Given the description of an element on the screen output the (x, y) to click on. 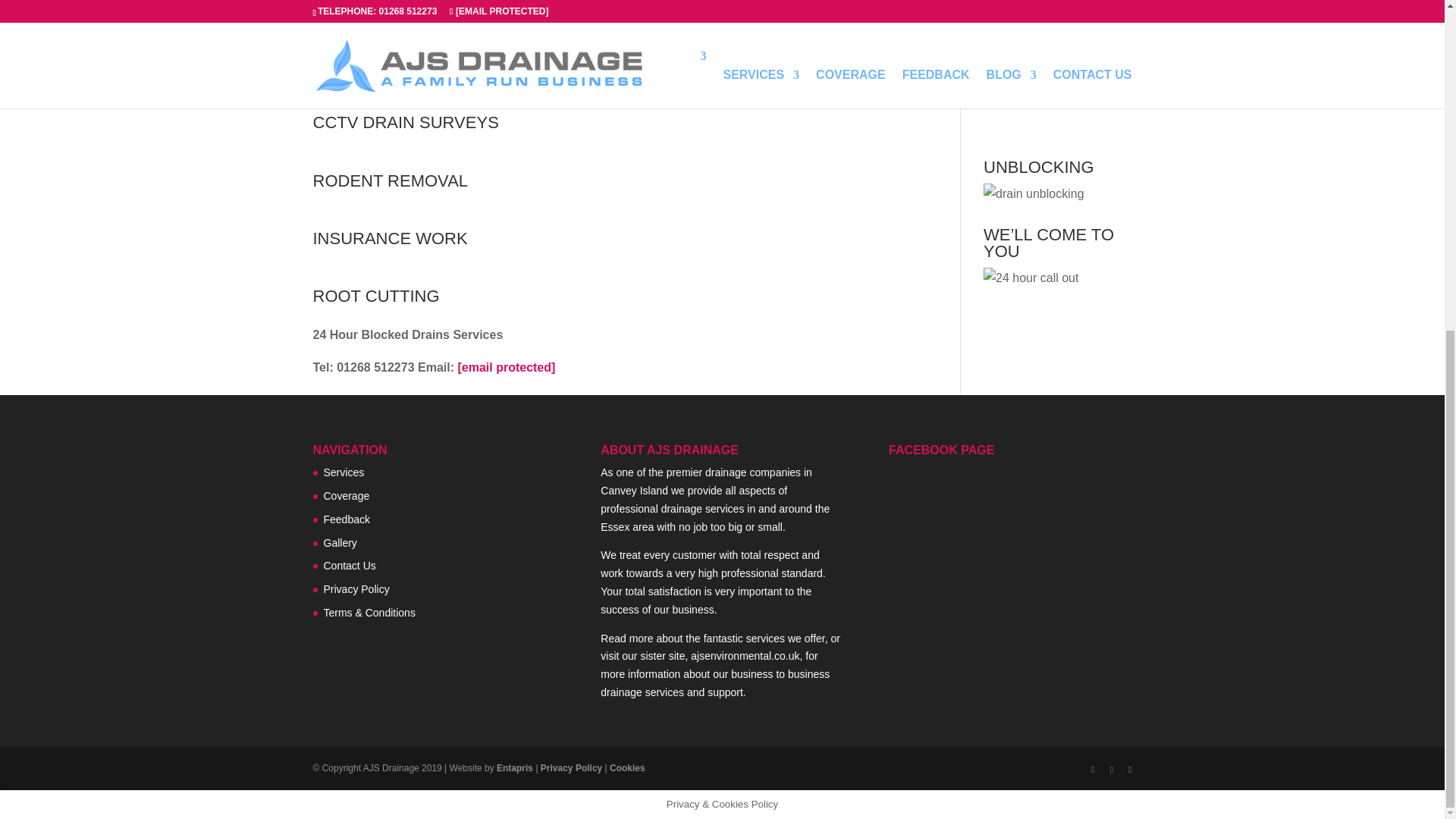
Gallery (339, 542)
Privacy Policy (571, 767)
Coverage (346, 495)
Privacy Policy (355, 589)
Services (343, 472)
ajsenvironmental.co.uk (744, 655)
Entapris (514, 767)
Read more (625, 638)
Cookies (627, 767)
Contact Us (349, 565)
Feedback (346, 519)
